Given the description of an element on the screen output the (x, y) to click on. 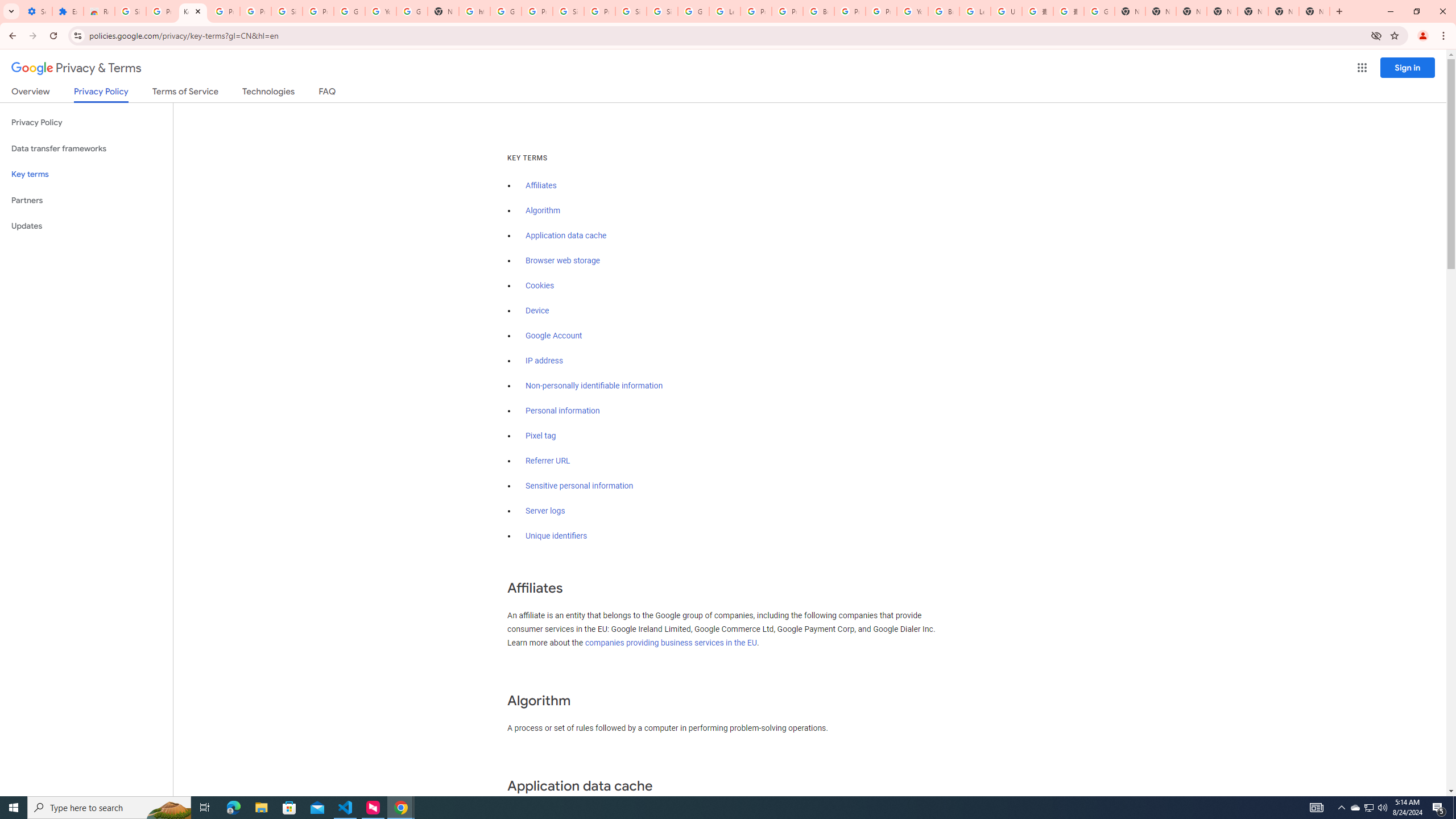
Google Account (553, 335)
Personal information (562, 411)
Cookies (539, 285)
New Tab (1314, 11)
Algorithm (542, 210)
Reviews: Helix Fruit Jump Arcade Game (98, 11)
